Given the description of an element on the screen output the (x, y) to click on. 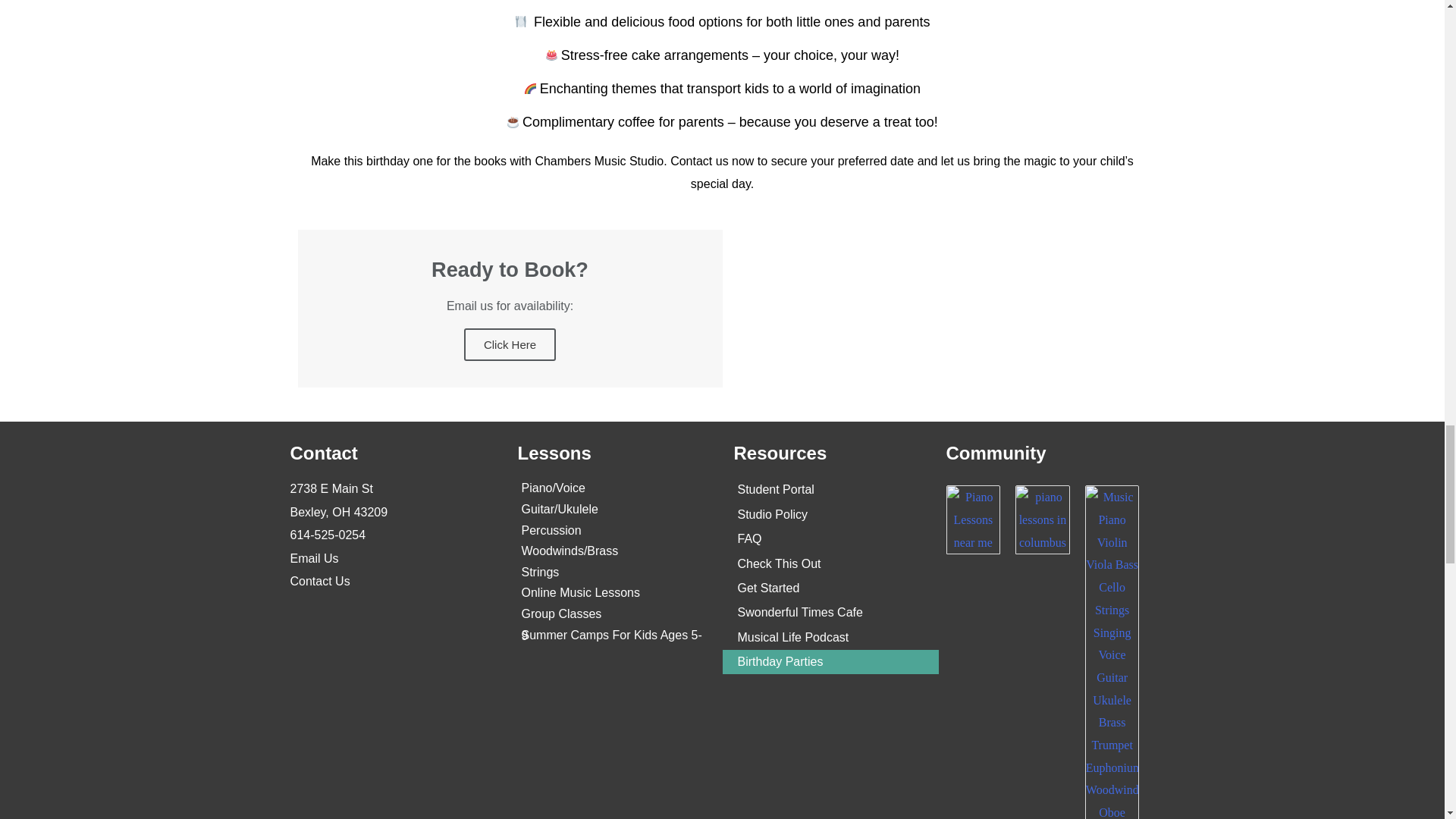
Birthday Parties 7 1f37d (521, 21)
Birthday Parties 8 1f382 (551, 55)
Birthday Parties 9 1f308 (529, 89)
Birthday Parties 10 2615 (512, 122)
